Given the description of an element on the screen output the (x, y) to click on. 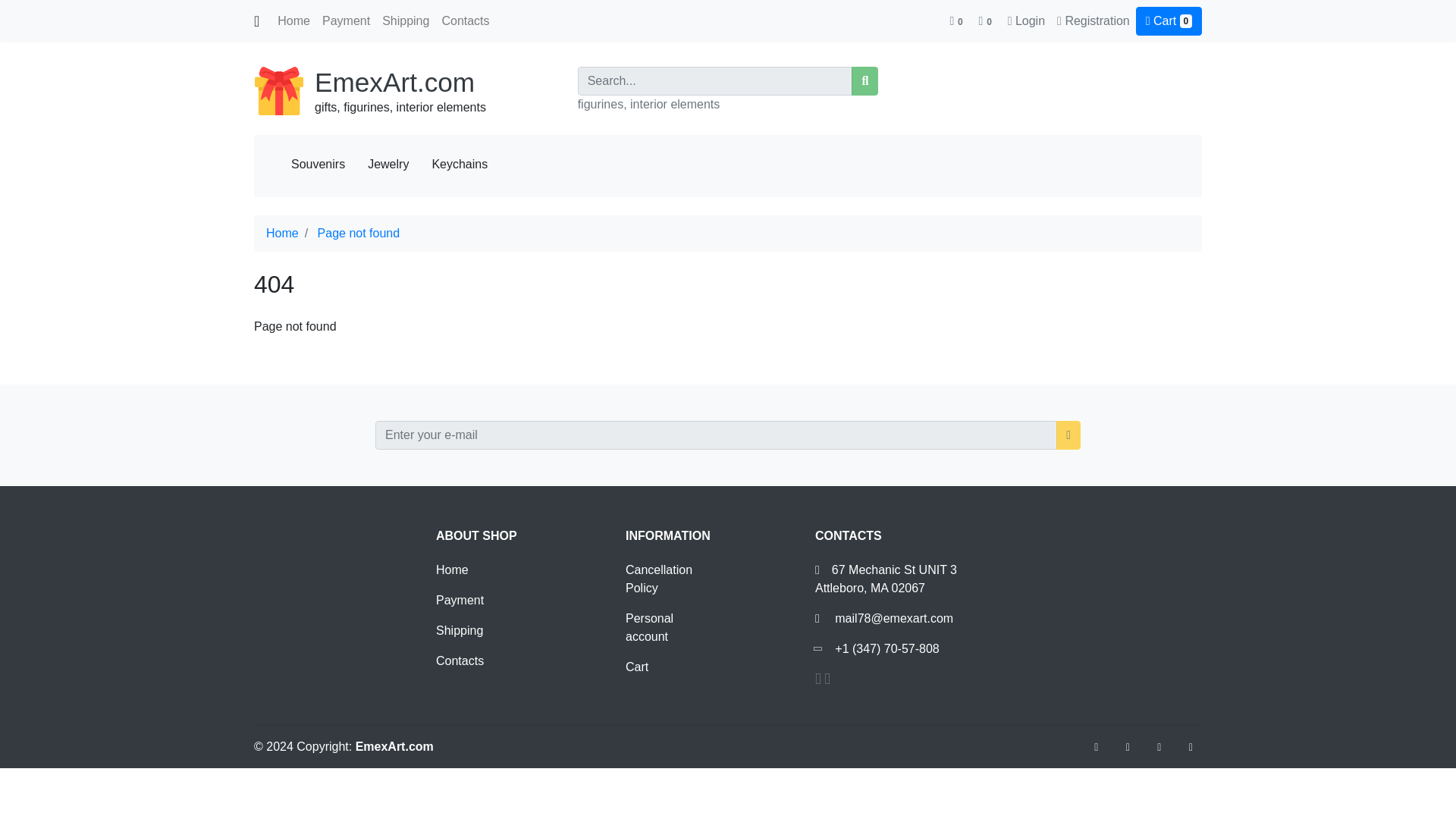
Keychains (459, 164)
Cart 0 (1168, 21)
Registration (1096, 20)
Cancellation Policy (659, 578)
Home (292, 20)
Payment (345, 20)
Shipping (405, 20)
Souvenirs (318, 164)
EmexArt.com (394, 82)
Contacts (459, 660)
Home (451, 569)
Contacts (465, 20)
Personal account (649, 626)
0 (986, 20)
Shipping (459, 630)
